Given the description of an element on the screen output the (x, y) to click on. 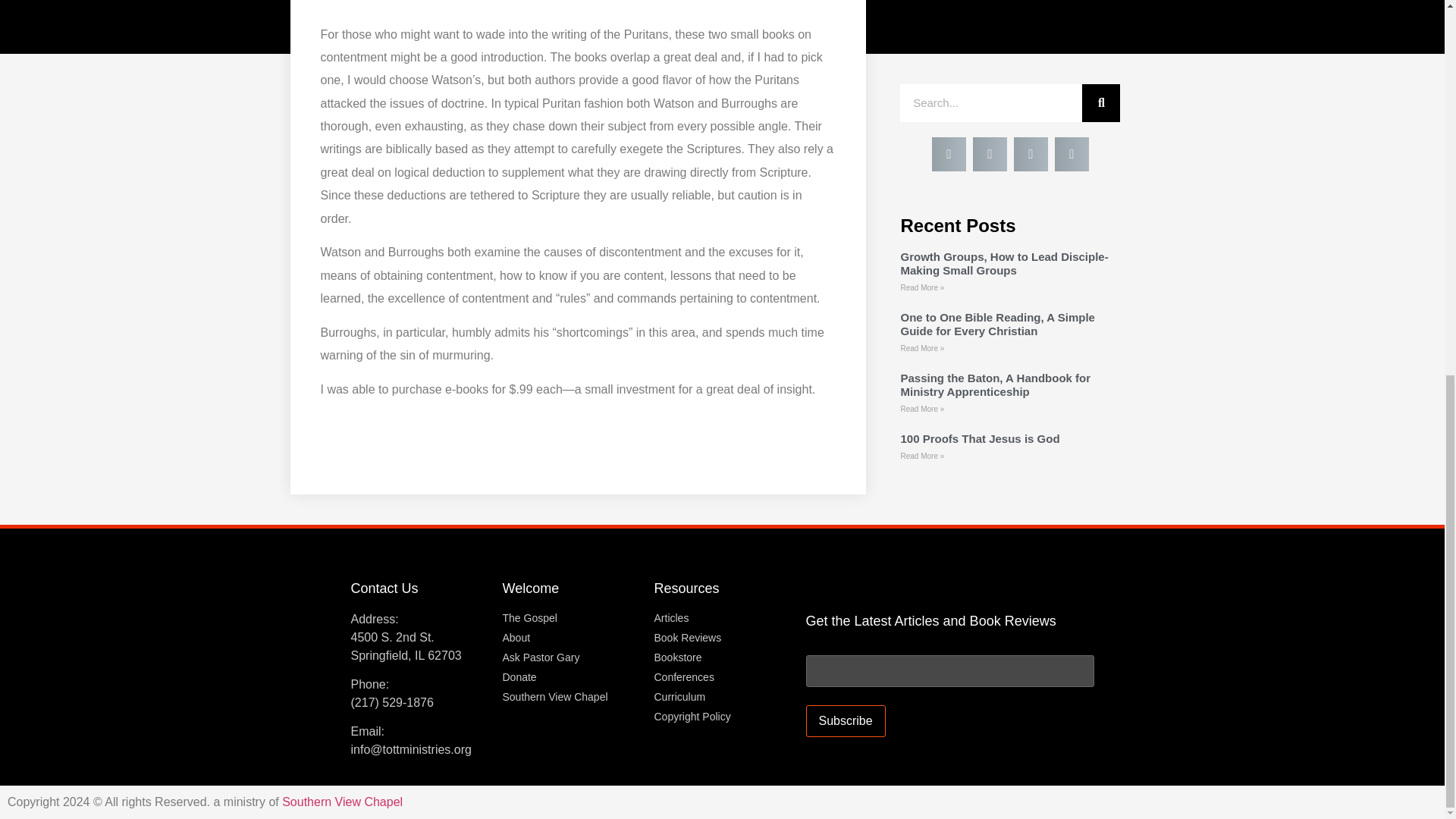
Southern View Chapel (570, 696)
Passing the Baton, A Handbook for Ministry Apprenticeship (994, 384)
Curriculum (721, 696)
About (570, 637)
Growth Groups, How to Lead Disciple-Making Small Groups (1003, 263)
One to One Bible Reading, A Simple Guide for Every Christian (996, 324)
Bookstore (721, 657)
Copyright Policy (721, 715)
Book Reviews (721, 637)
Articles (721, 617)
